Given the description of an element on the screen output the (x, y) to click on. 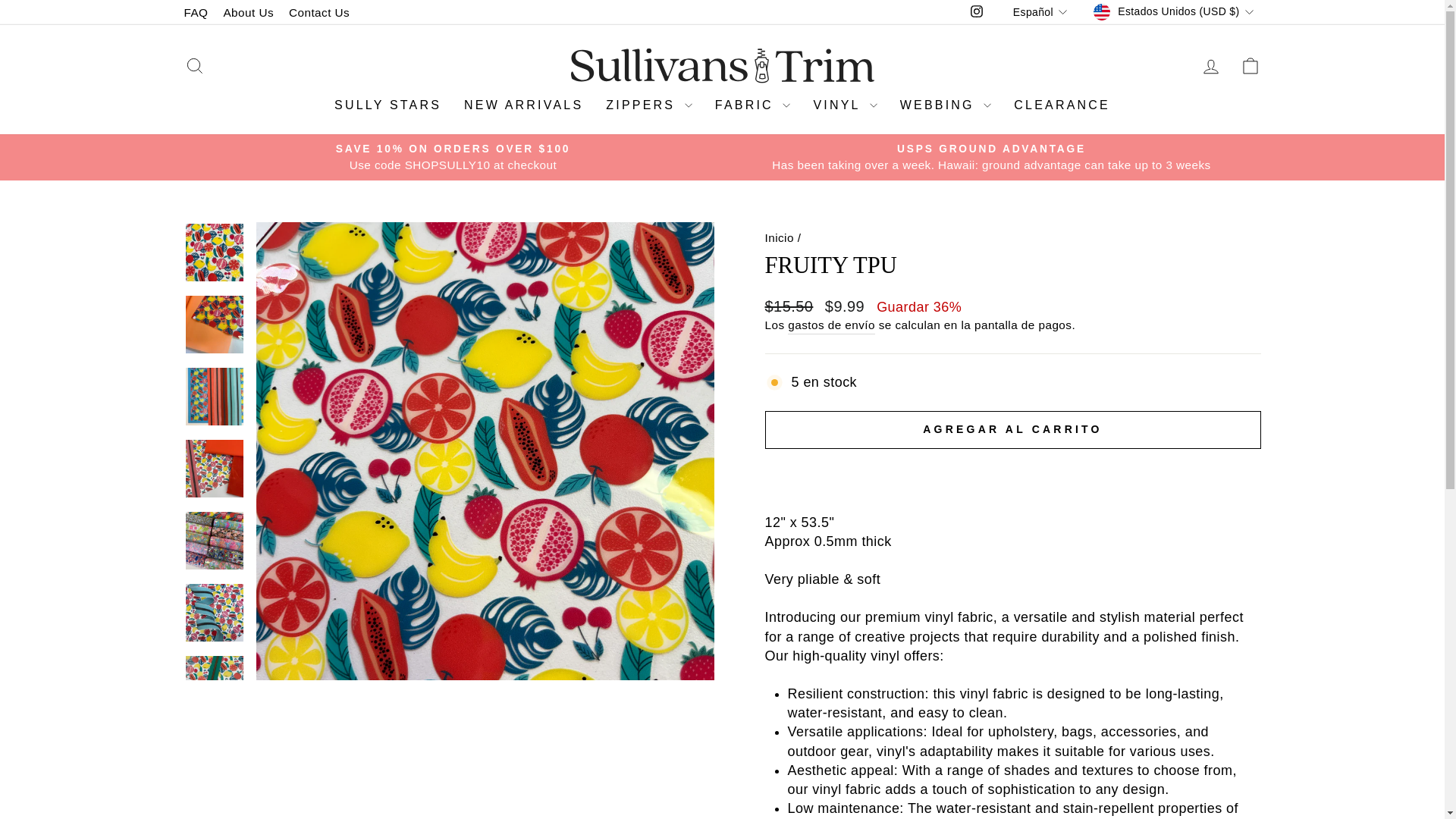
ICON-SEARCH (194, 65)
ICON-BAG-MINIMAL (1249, 65)
Volver a la portada (778, 237)
instagram (976, 10)
ACCOUNT (1210, 66)
